Given the description of an element on the screen output the (x, y) to click on. 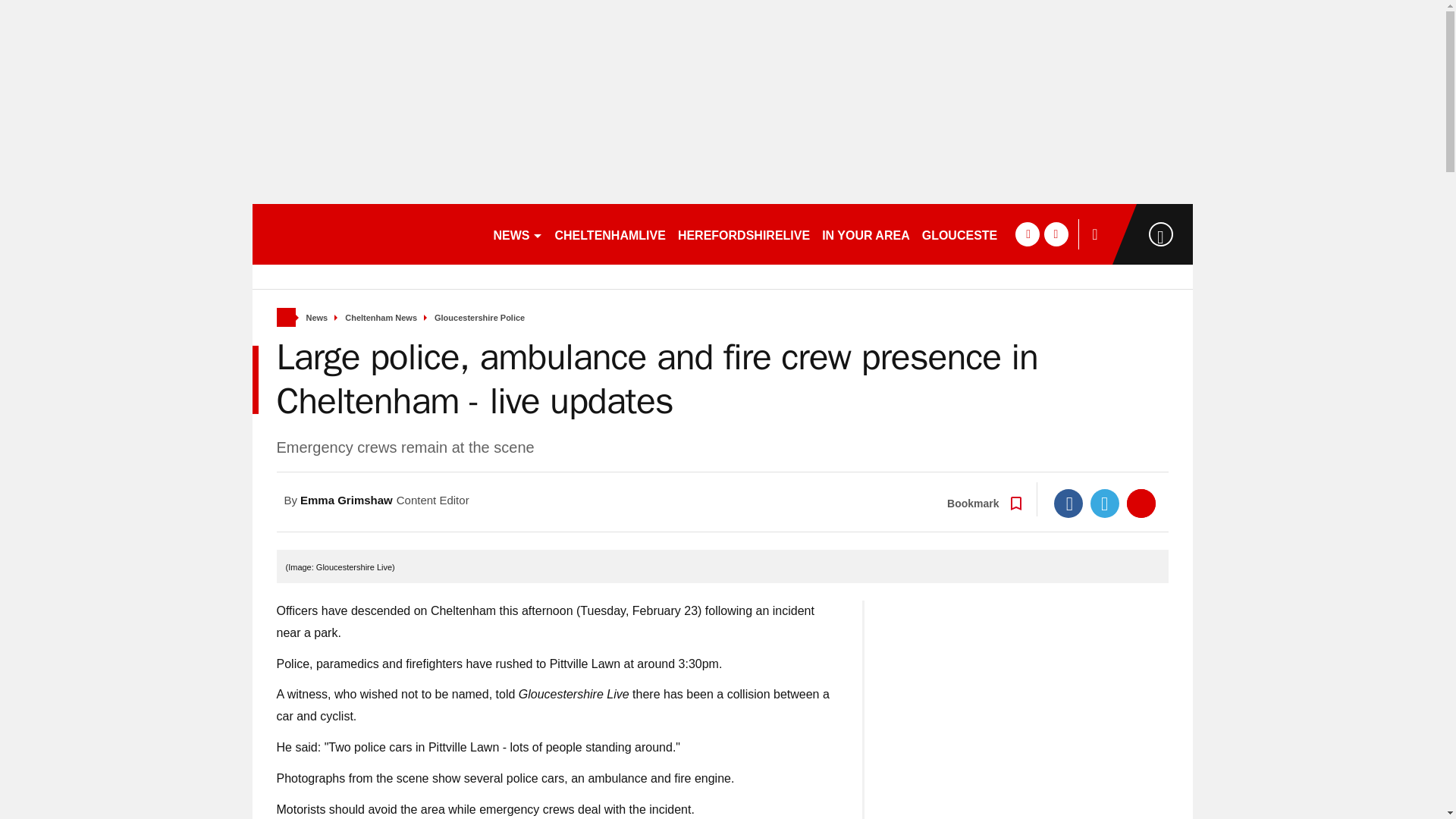
Facebook (1068, 502)
IN YOUR AREA (865, 233)
gloucestershirelive (365, 233)
CHELTENHAMLIVE (609, 233)
HEREFORDSHIRELIVE (743, 233)
twitter (1055, 233)
GLOUCESTER NEWS (983, 233)
NEWS (517, 233)
Twitter (1104, 502)
facebook (1026, 233)
